Given the description of an element on the screen output the (x, y) to click on. 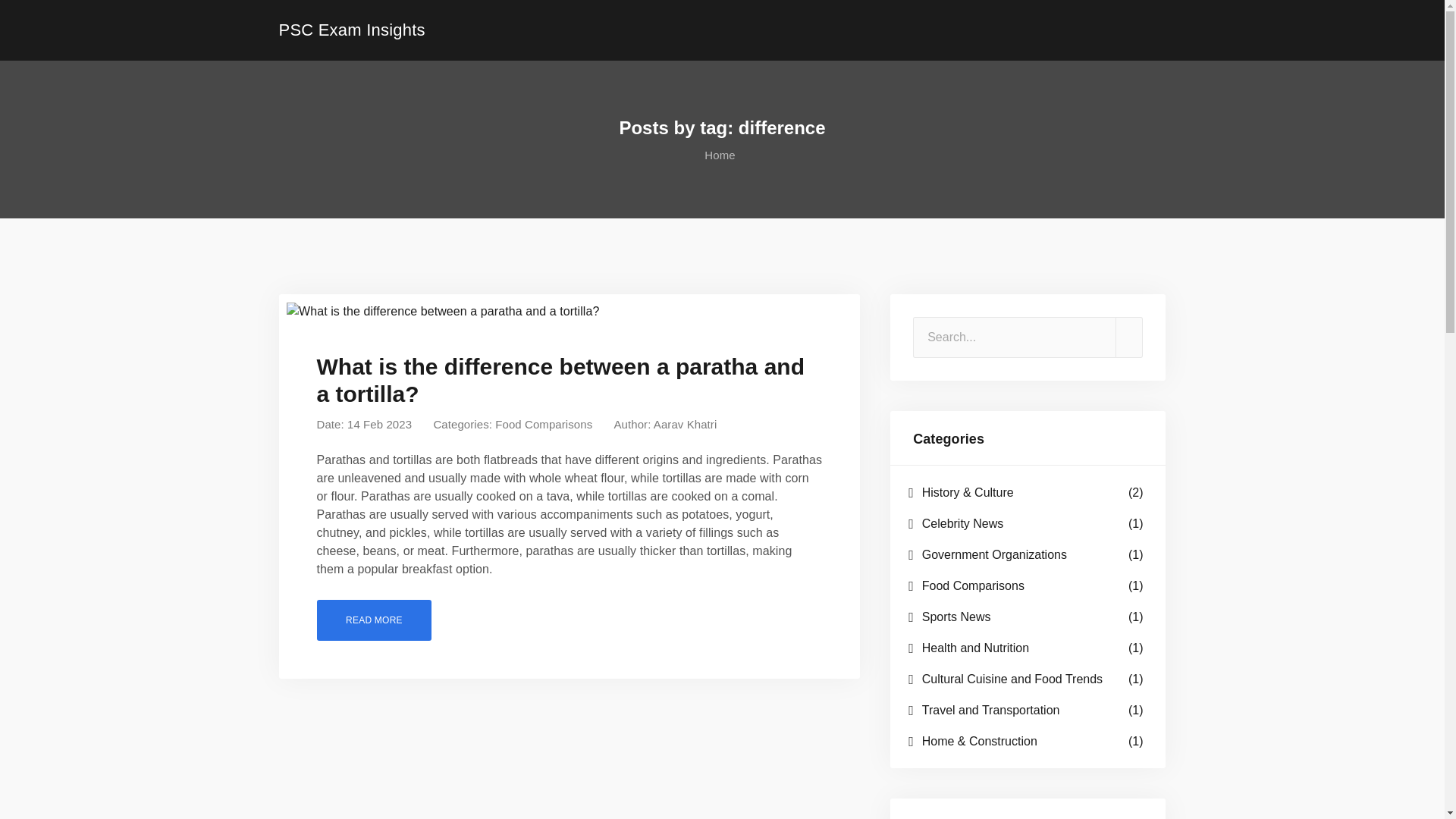
Aarav Khatri (685, 423)
Food Comparisons (543, 423)
READ MORE (373, 619)
What is the difference between a paratha and a tortilla? (561, 379)
What is the difference between a paratha and a tortilla? (373, 619)
PSC Exam Insights (352, 30)
